Given the description of an element on the screen output the (x, y) to click on. 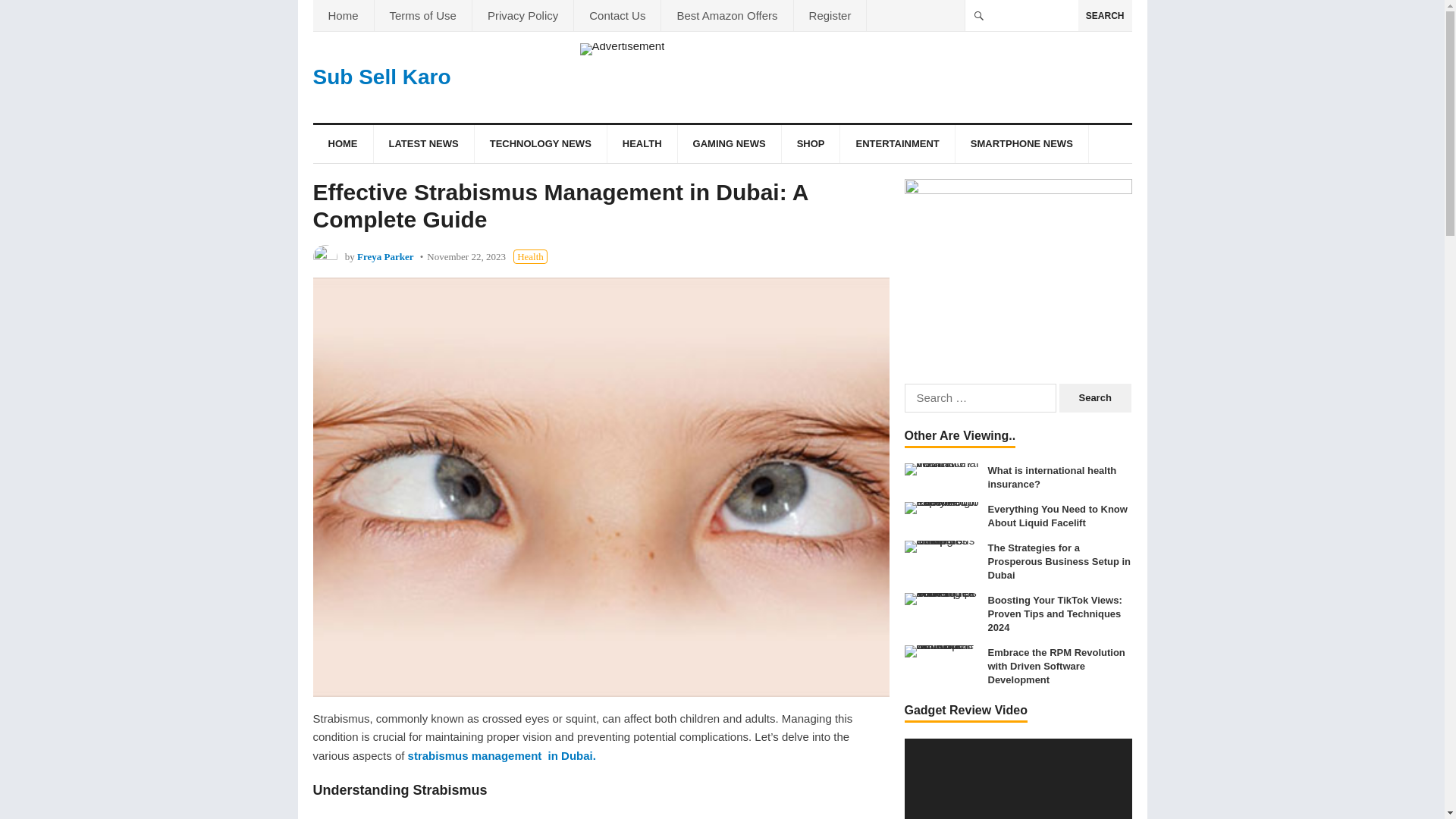
Posts by Freya Parker (384, 256)
TECHNOLOGY NEWS (540, 143)
HOME (342, 143)
ENTERTAINMENT (896, 143)
GAMING NEWS (729, 143)
HEALTH (642, 143)
View all posts in Health (530, 256)
Freya Parker (384, 256)
Health (530, 256)
Search (1095, 398)
strabismus management  in Dubai. (501, 755)
Everything You Need to Know About Liquid Facelift (941, 508)
Register (829, 15)
SHOP (810, 143)
The Strategies for a Prosperous Business Setup in Dubai (941, 546)
